Given the description of an element on the screen output the (x, y) to click on. 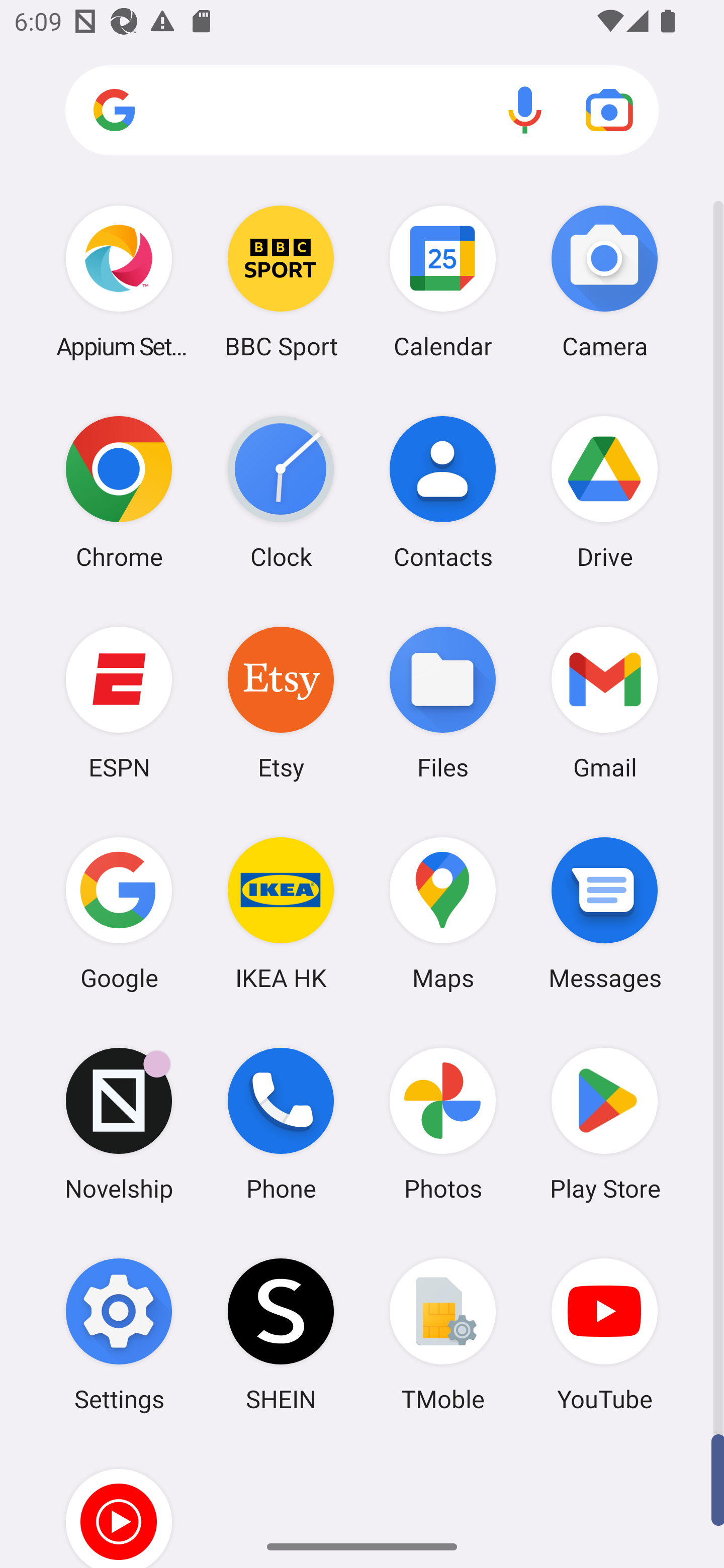
Search apps, web and more (361, 110)
Voice search (524, 109)
Google Lens (608, 109)
Appium Settings (118, 281)
BBC Sport (280, 281)
Calendar (443, 281)
Camera (604, 281)
Chrome (118, 492)
Clock (280, 492)
Contacts (443, 492)
Drive (604, 492)
ESPN (118, 702)
Etsy (280, 702)
Files (443, 702)
Gmail (604, 702)
Google (118, 913)
IKEA HK (280, 913)
Maps (443, 913)
Messages (604, 913)
Novelship Novelship has 2 notifications (118, 1124)
Phone (280, 1124)
Photos (443, 1124)
Play Store (604, 1124)
Settings (118, 1334)
SHEIN (280, 1334)
TMoble (443, 1334)
YouTube (604, 1334)
YT Music (118, 1503)
